Given the description of an element on the screen output the (x, y) to click on. 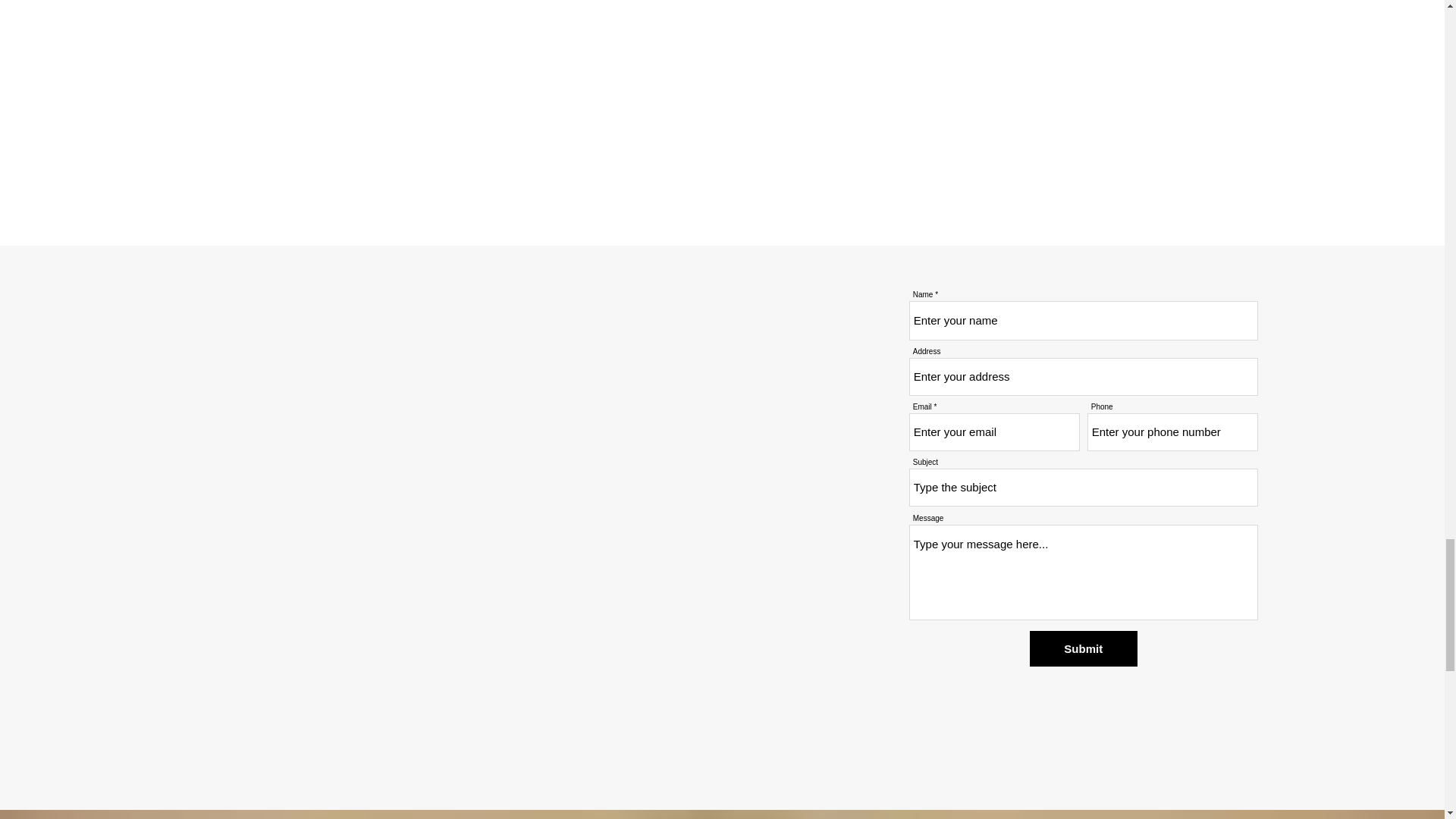
Submit (1083, 648)
